Given the description of an element on the screen output the (x, y) to click on. 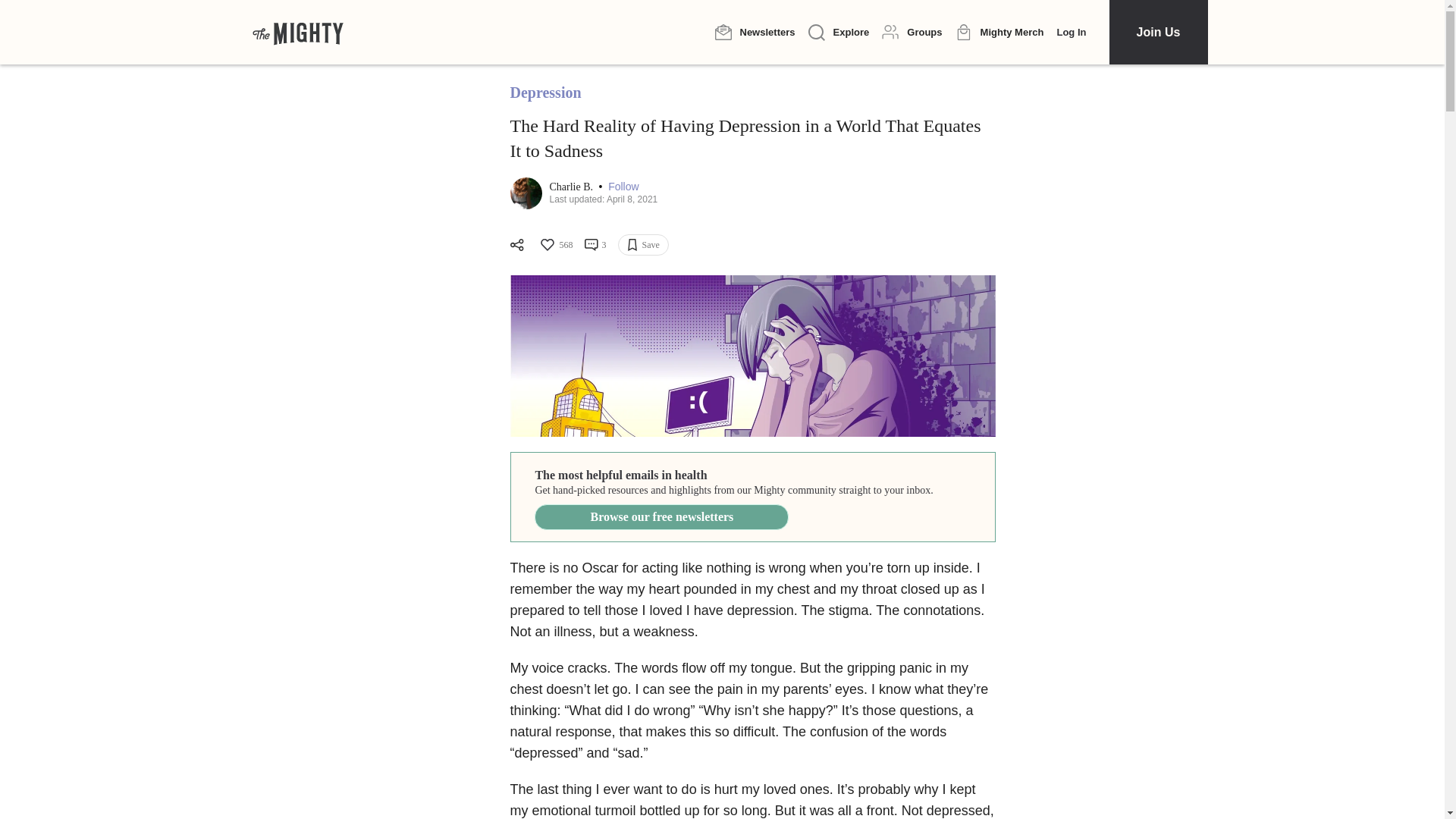
Save (642, 244)
Mighty Merch (999, 32)
Explore (838, 32)
Charlie B. (571, 186)
Join Us (1157, 32)
The Mighty (296, 32)
Browse our free newsletters (661, 516)
Depression (544, 92)
Groups (912, 32)
Follow (623, 186)
568 (555, 244)
3 (594, 244)
Newsletters (754, 31)
